Given the description of an element on the screen output the (x, y) to click on. 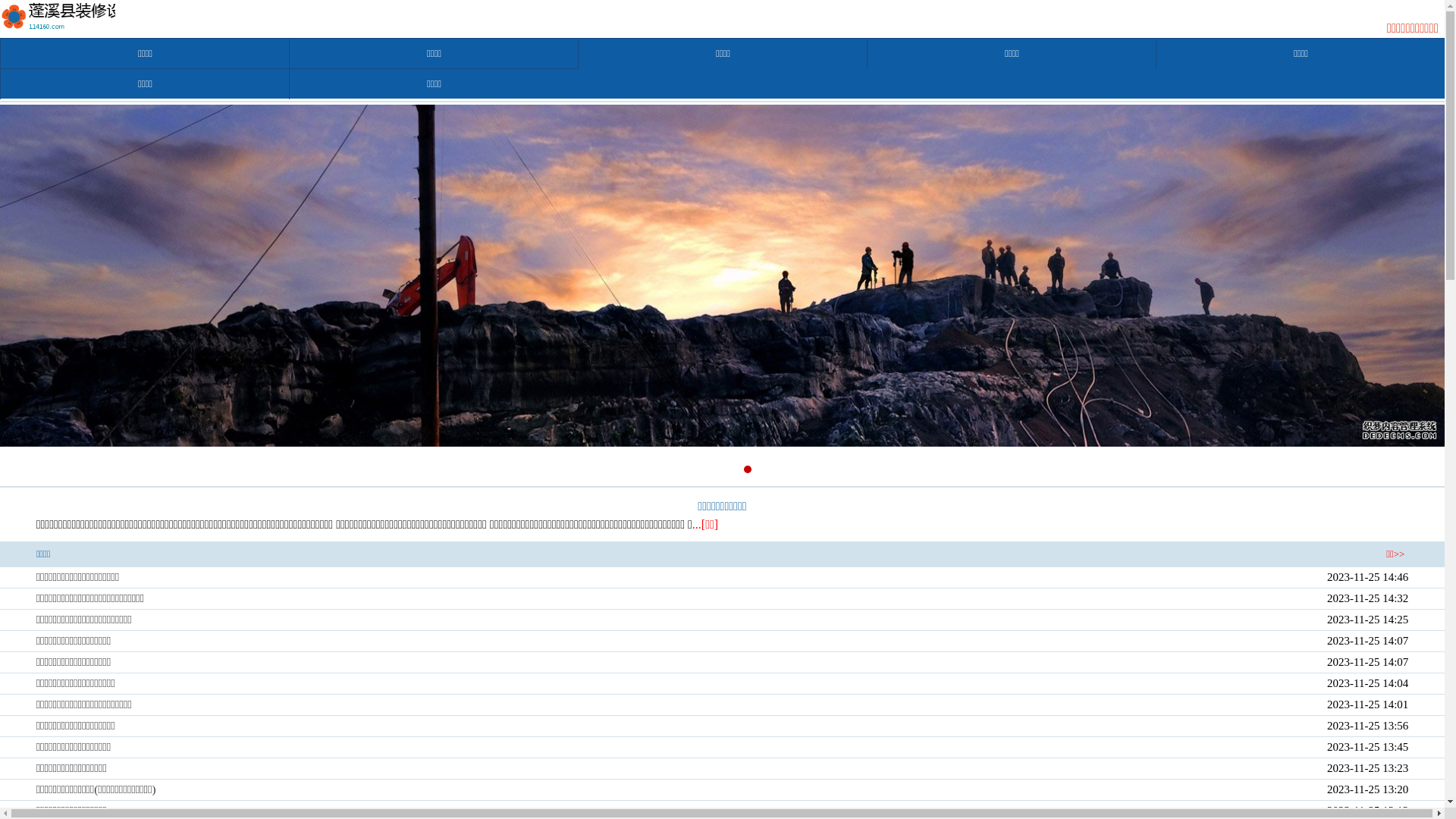
1 Element type: text (696, 469)
3 Element type: text (730, 469)
4 Element type: text (746, 469)
2 Element type: text (713, 469)
